Given the description of an element on the screen output the (x, y) to click on. 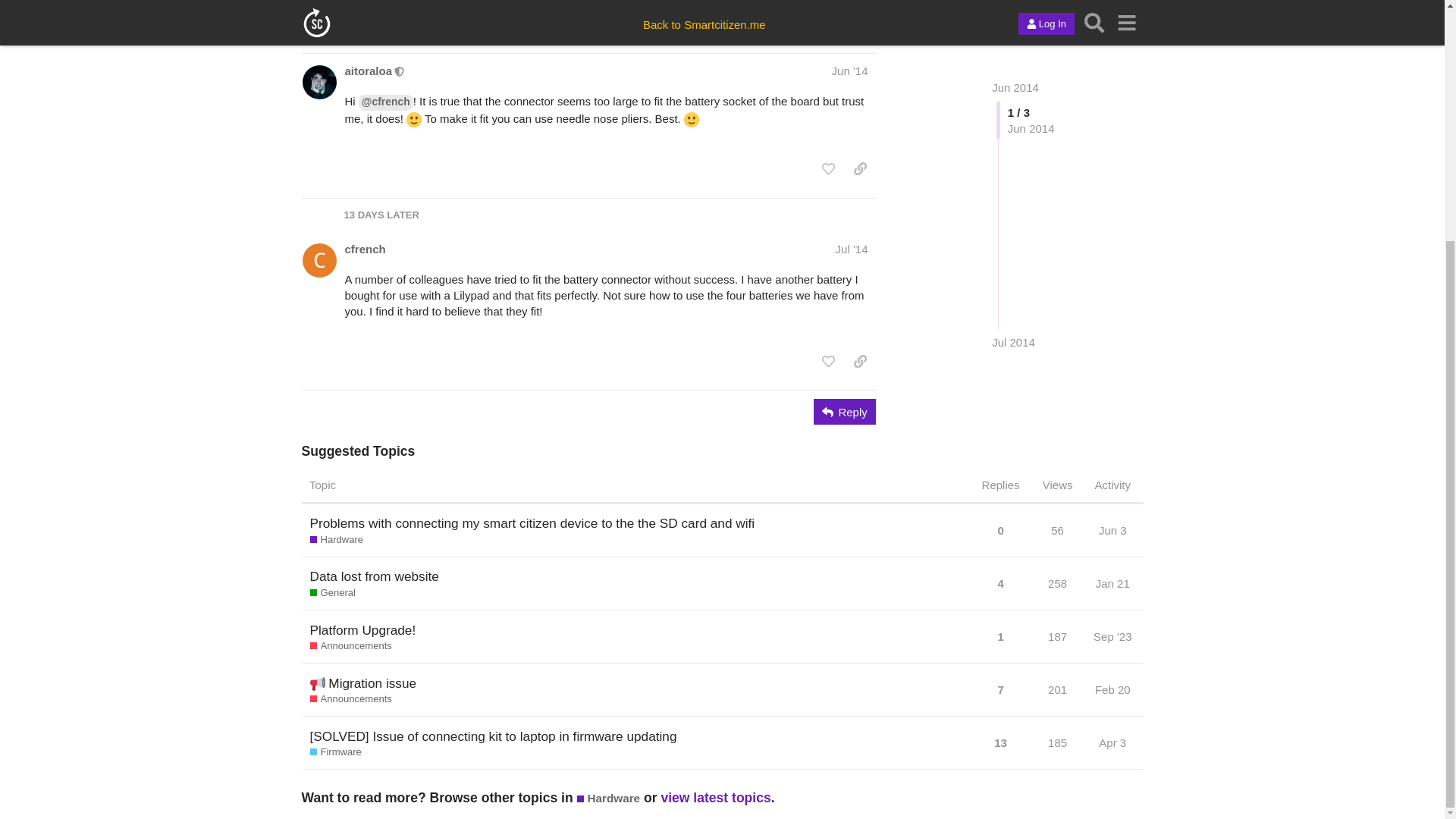
last reply (446, 7)
expand topic details (850, 18)
Jul 2014 (1013, 126)
Jul '14 (851, 248)
Jul 2014 (1013, 126)
cfrench (364, 248)
Jun '14 (849, 70)
Jul 10, 2014 4:49 am (455, 24)
Cfrench (359, 23)
Cfrench (623, 15)
aitoraloa (367, 70)
Jun 26, 2014 5:46 am (387, 24)
Cfrench (429, 23)
Reply (844, 411)
